Given the description of an element on the screen output the (x, y) to click on. 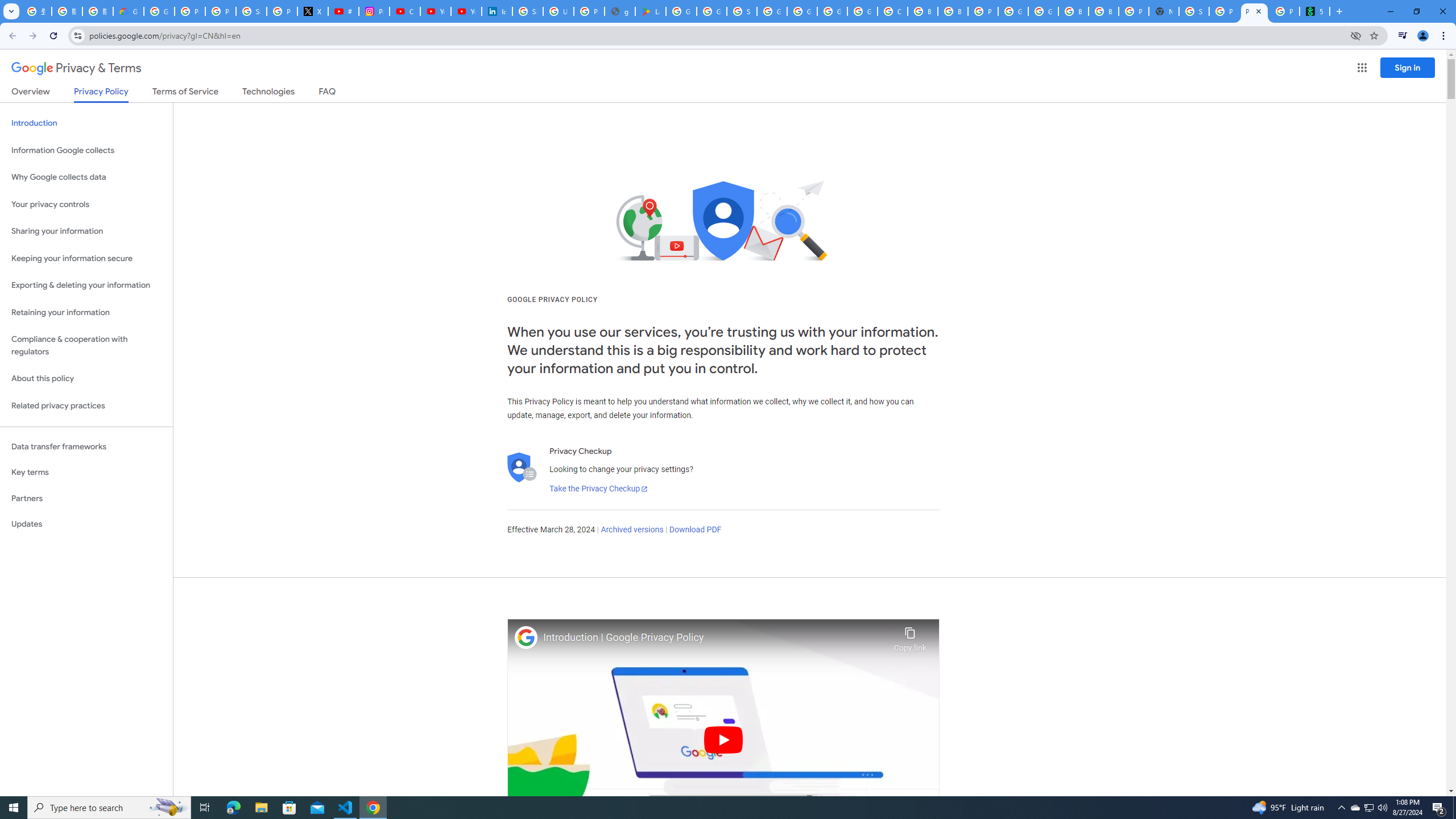
Key terms (86, 472)
Browse Chrome as a guest - Computer - Google Chrome Help (922, 11)
Related privacy practices (86, 405)
Google Cloud Privacy Notice (127, 11)
Why Google collects data (86, 176)
Copy link (909, 636)
Third-party cookies blocked (1355, 35)
